Given the description of an element on the screen output the (x, y) to click on. 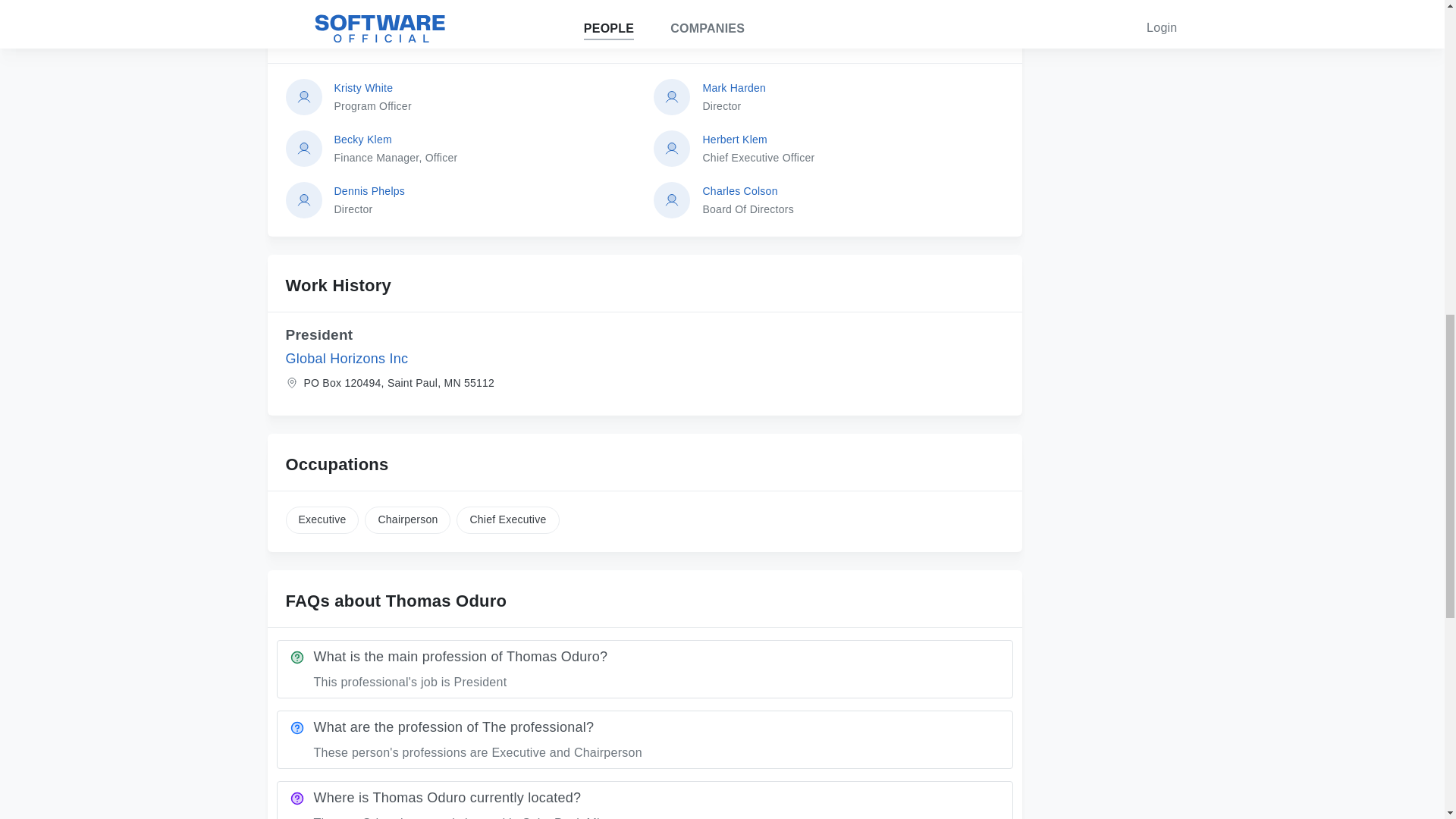
Global Horizons Inc (346, 358)
